Given the description of an element on the screen output the (x, y) to click on. 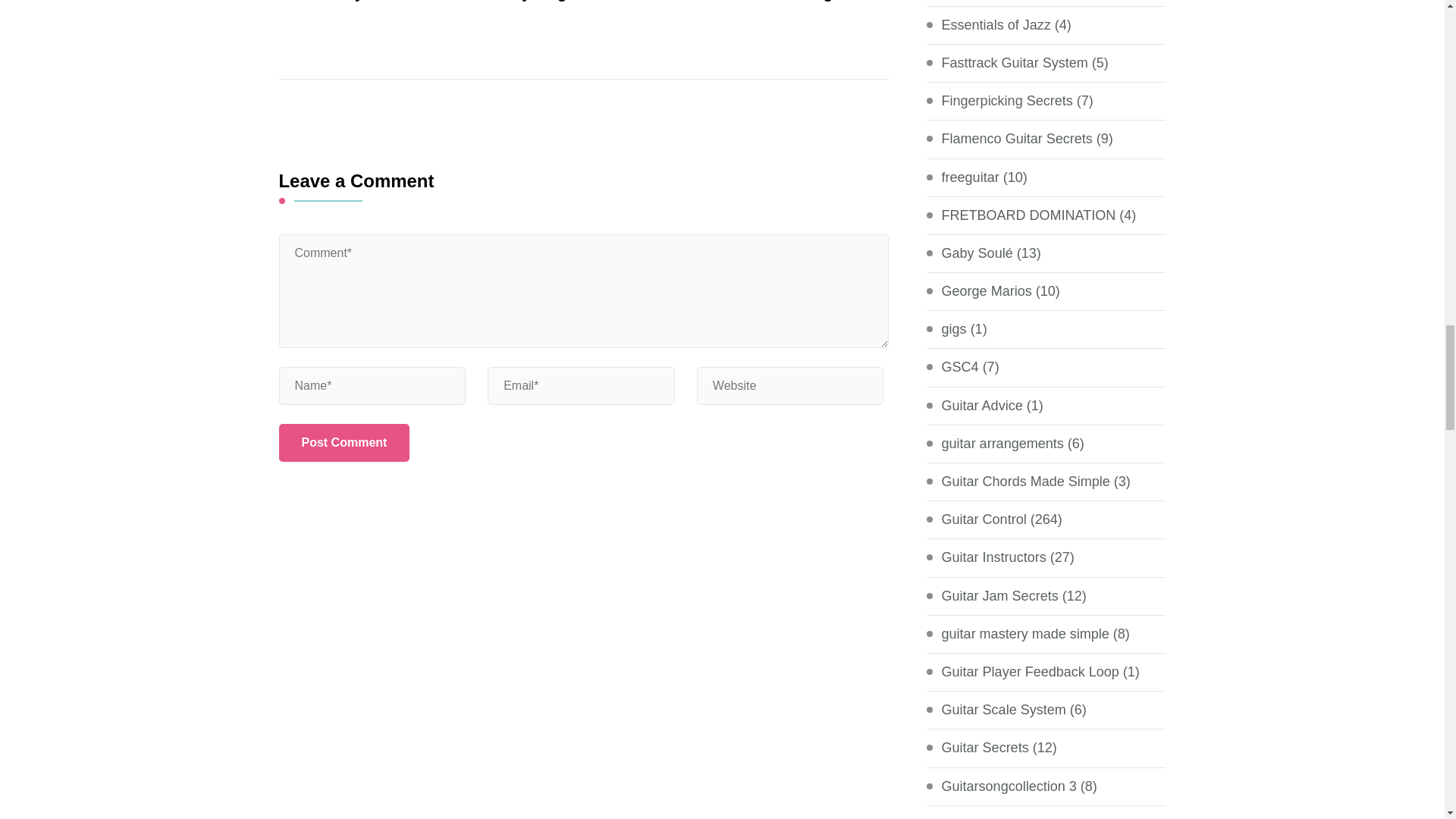
New rhythm guitar lesson on my blog (581, 1)
Post Comment (344, 442)
Post Comment (344, 442)
